Given the description of an element on the screen output the (x, y) to click on. 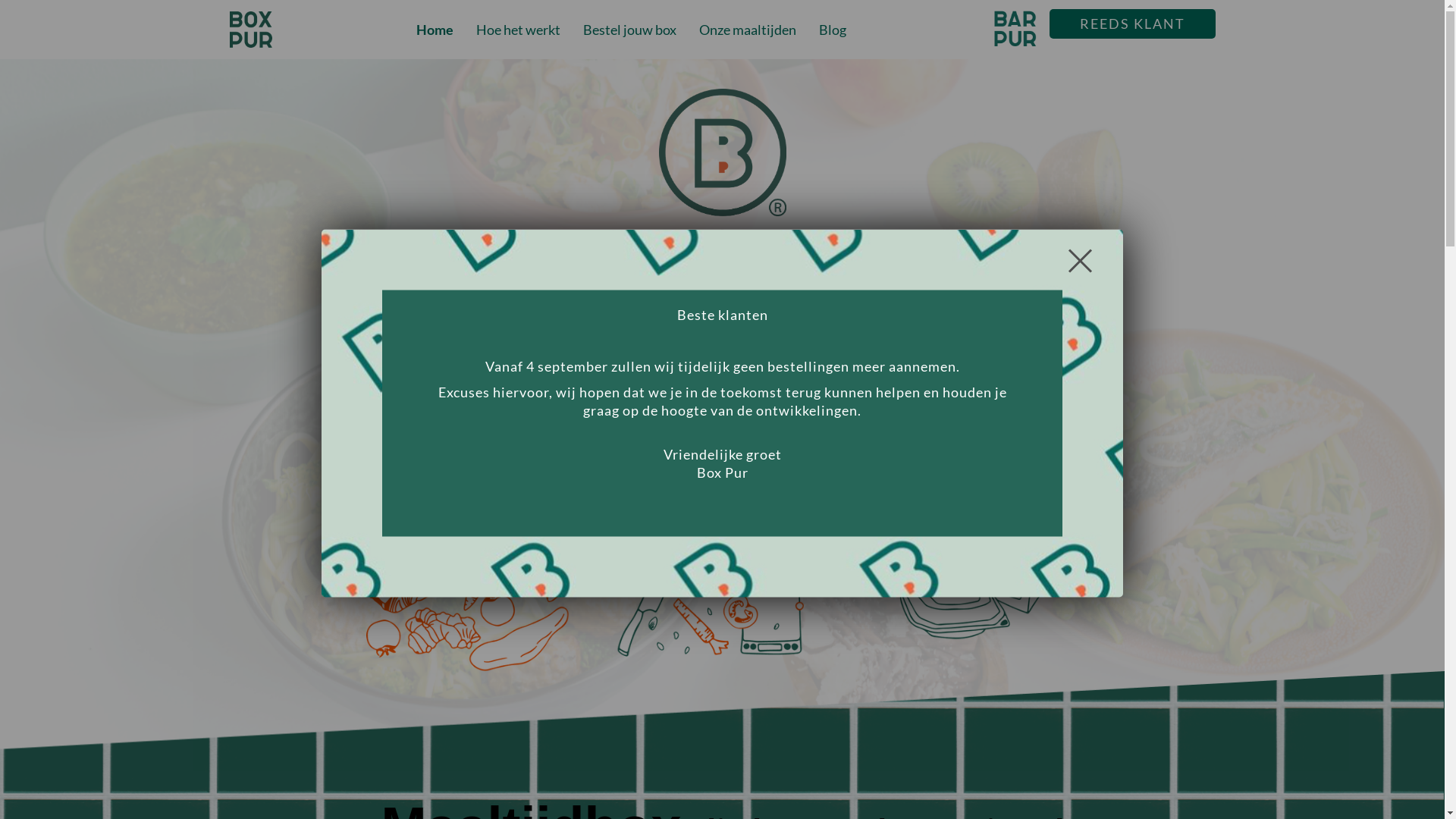
ONTDEK HOE BOX PUR WERKT Element type: text (721, 439)
REEDS KLANT Element type: text (1132, 23)
Onze maaltijden Element type: text (747, 29)
Bestel jouw box Element type: text (629, 29)
Blog Element type: text (832, 29)
Home Element type: text (434, 29)
Hoe het werkt Element type: text (518, 29)
